Given the description of an element on the screen output the (x, y) to click on. 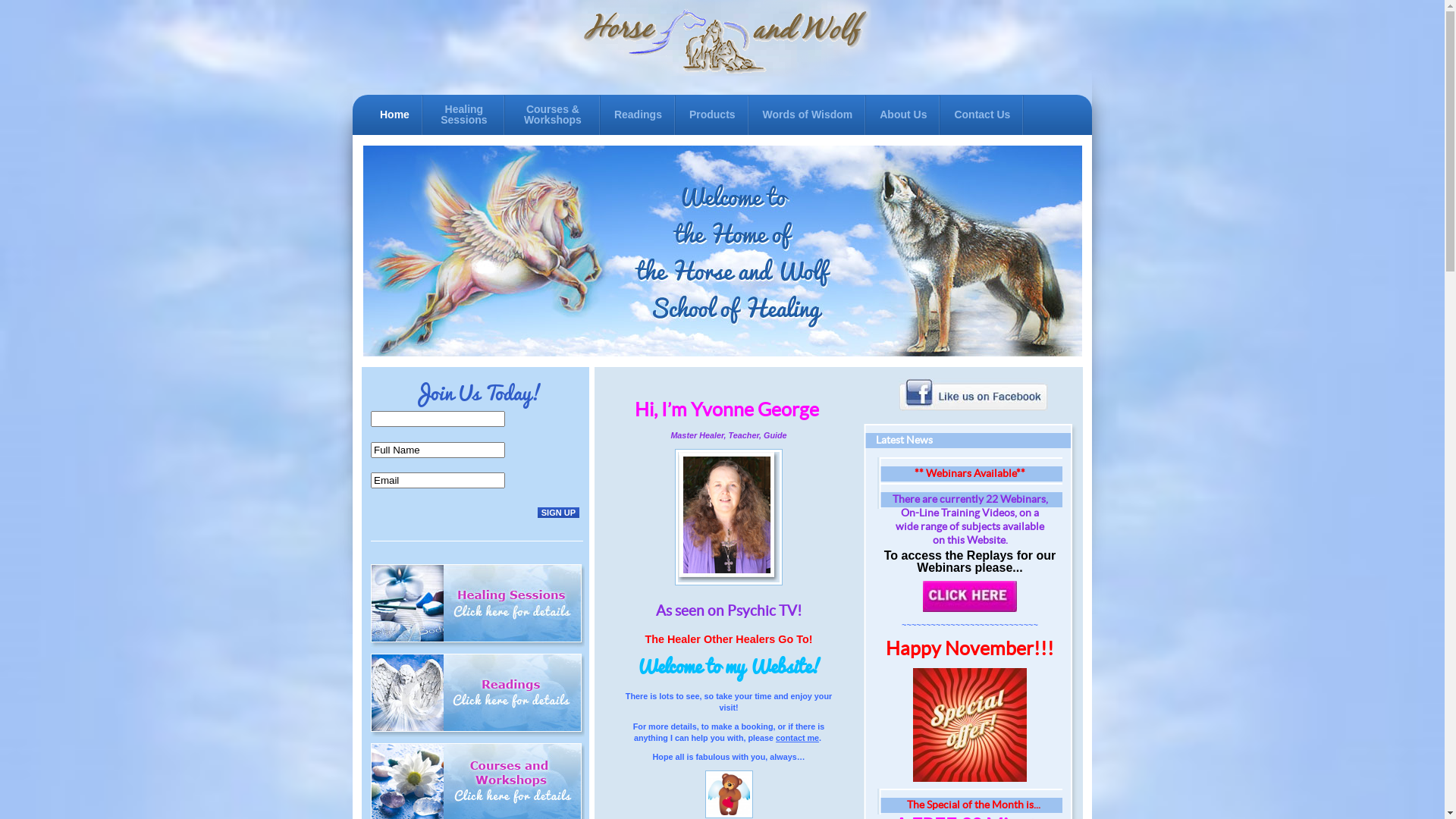
Words of Wisdom Element type: text (807, 114)
Products Element type: text (712, 114)
Contact Us Element type: text (981, 114)
Healing Sessions Element type: text (464, 114)
Home Element type: text (394, 114)
Full Name Element type: hover (437, 449)
Horse & Wolf School of Healing Element type: hover (722, 40)
Email Element type: hover (437, 480)
Sign Up Element type: text (558, 511)
contact me Element type: text (797, 737)
Courses & Workshops Element type: text (552, 114)
Readings Element type: text (637, 114)
About Us Element type: text (903, 114)
